Given the description of an element on the screen output the (x, y) to click on. 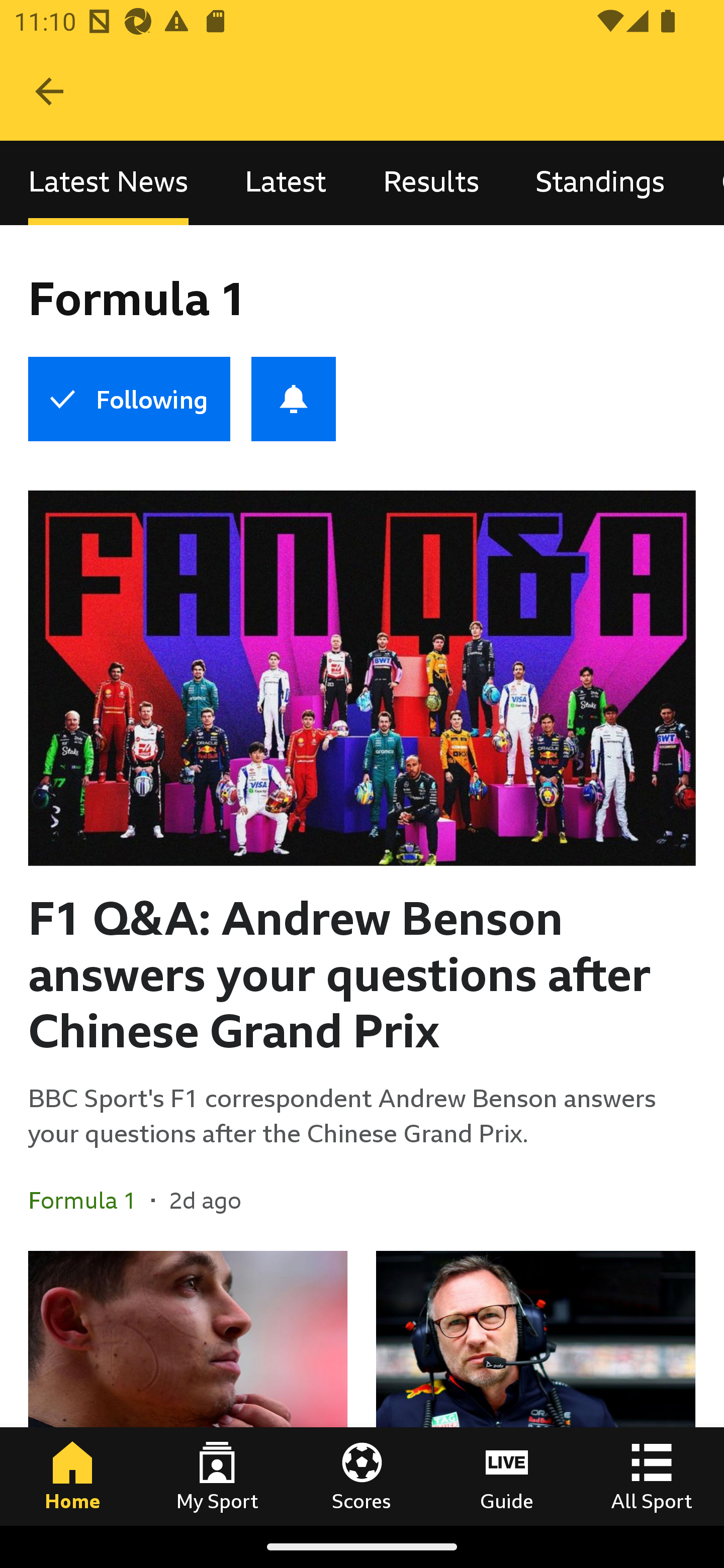
Navigate up (49, 91)
Latest News, selected Latest News (108, 183)
Latest (285, 183)
Results (430, 183)
Standings (600, 183)
Following Formula 1 Following (129, 398)
Push notifications for Formula 1 (293, 398)
Horner criticises Wolff over Verstappen comments (535, 1388)
My Sport (216, 1475)
Scores (361, 1475)
Guide (506, 1475)
All Sport (651, 1475)
